Given the description of an element on the screen output the (x, y) to click on. 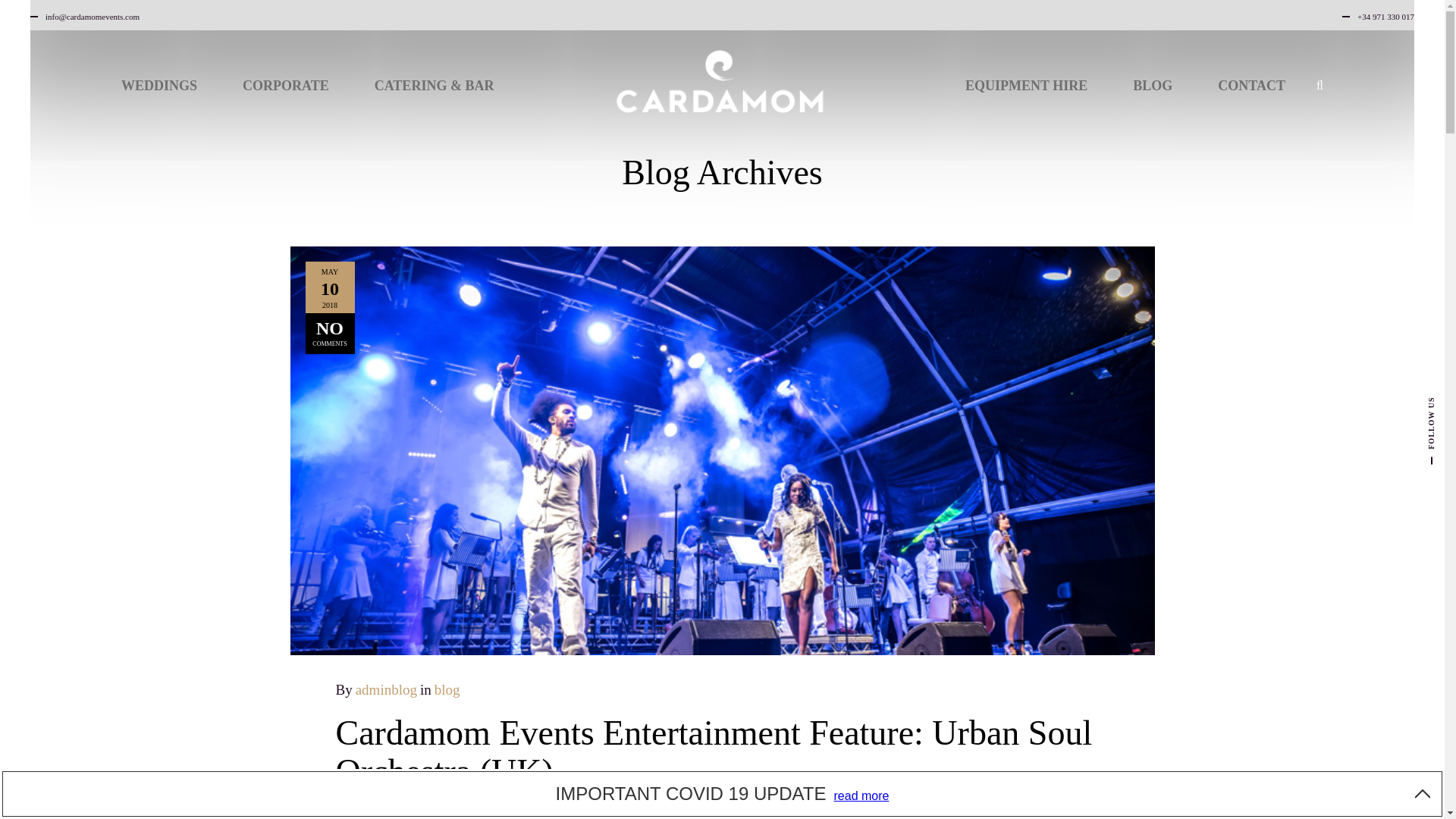
CORPORATE (285, 83)
Posts by adminblog (385, 688)
BLOG (1152, 83)
CONTACT (1251, 83)
adminblog (385, 688)
EQUIPMENT HIRE (1025, 83)
read more (861, 795)
blog (446, 688)
WEDDINGS (159, 83)
